Given the description of an element on the screen output the (x, y) to click on. 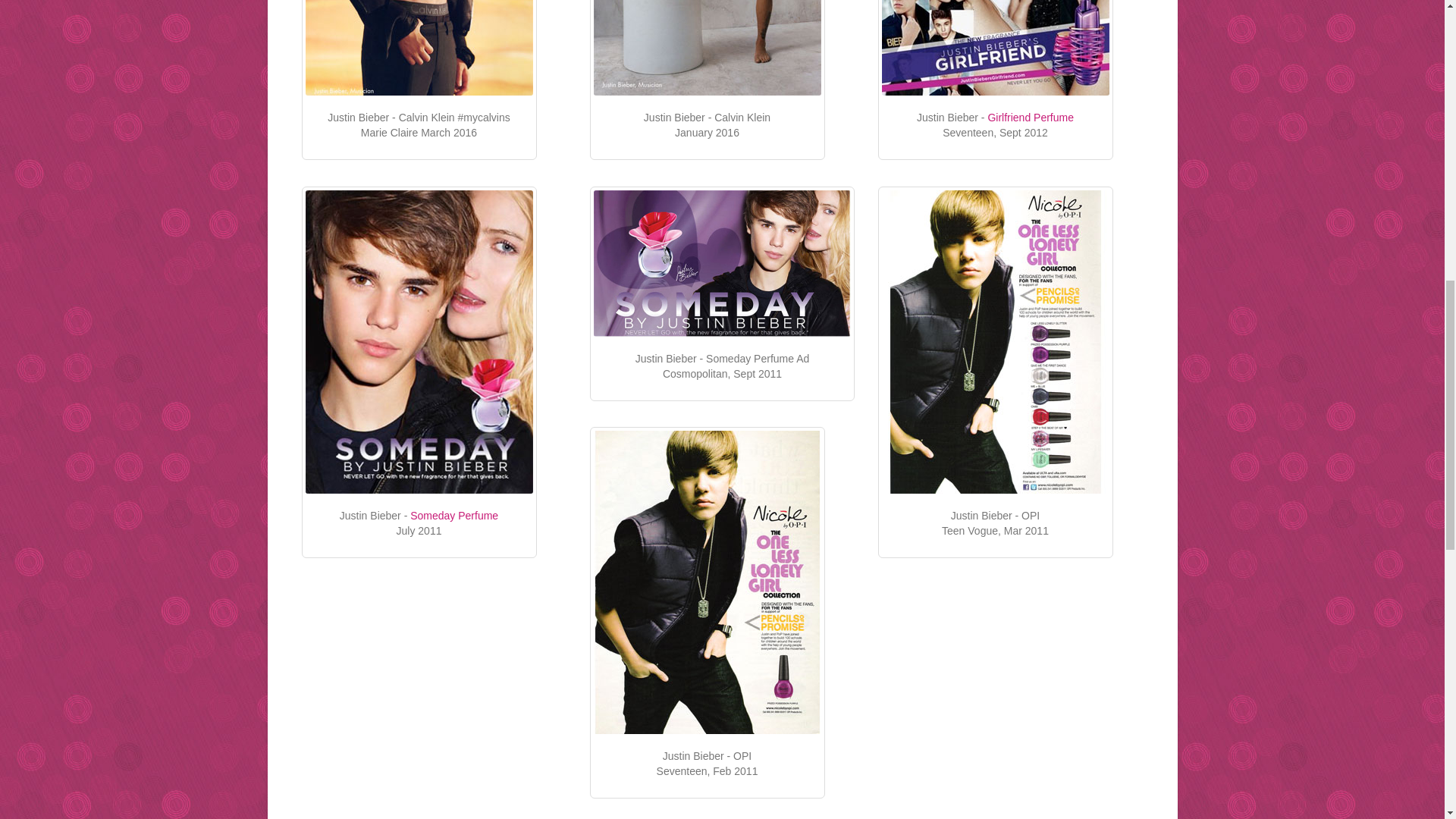
Girlfriend Perfume (1030, 117)
Justin Bieber Girlfriend Perfume Ad - Seventeen Sept 2012 (994, 47)
Justin Bieber Someday Perfume Ad - Cosmopolitan, Sept 2011 (721, 263)
